Given the description of an element on the screen output the (x, y) to click on. 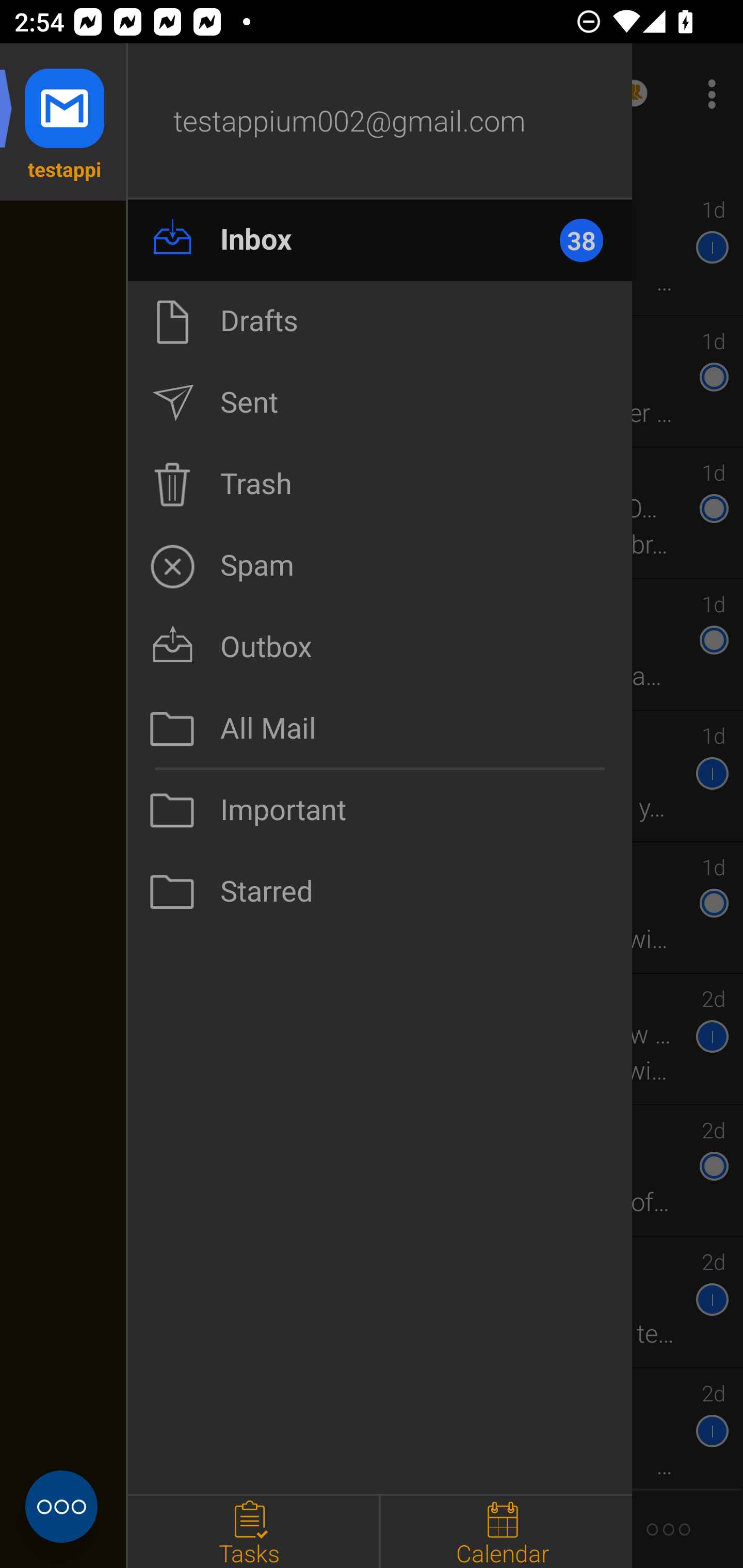
Navigate up (81, 93)
testappium002@gmail.com (379, 121)
More Options (706, 93)
Updated 2:54 PM (371, 164)
Inbox 38 (379, 239)
38 (590, 239)
Drafts (379, 321)
Sent (379, 402)
Trash (379, 484)
Spam (379, 565)
Outbox (379, 647)
All Mail (379, 728)
Important (379, 810)
Starred (379, 891)
